Given the description of an element on the screen output the (x, y) to click on. 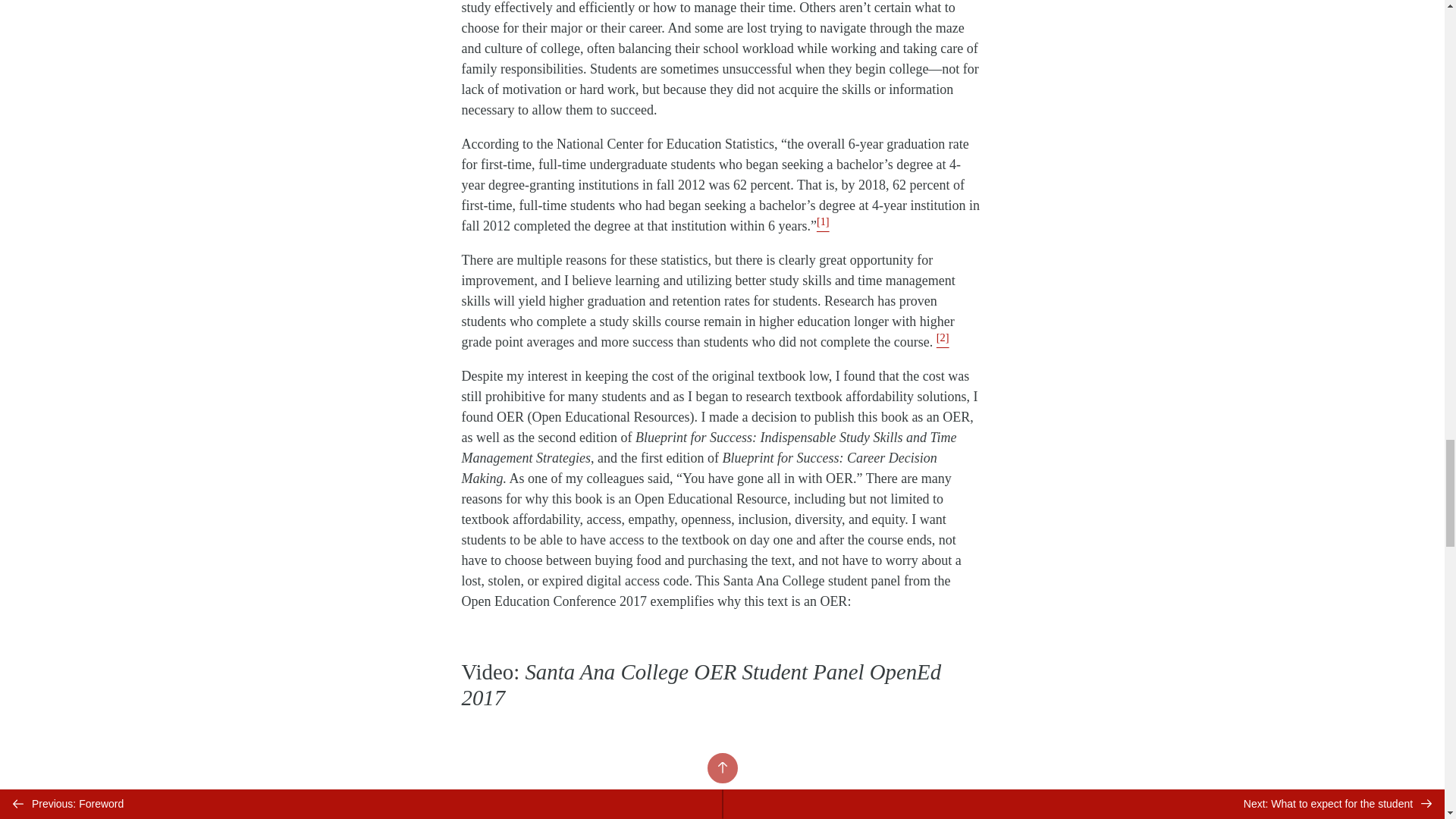
Santa Ana College OER Student Panel OpenEd 2017 (721, 780)
